Given the description of an element on the screen output the (x, y) to click on. 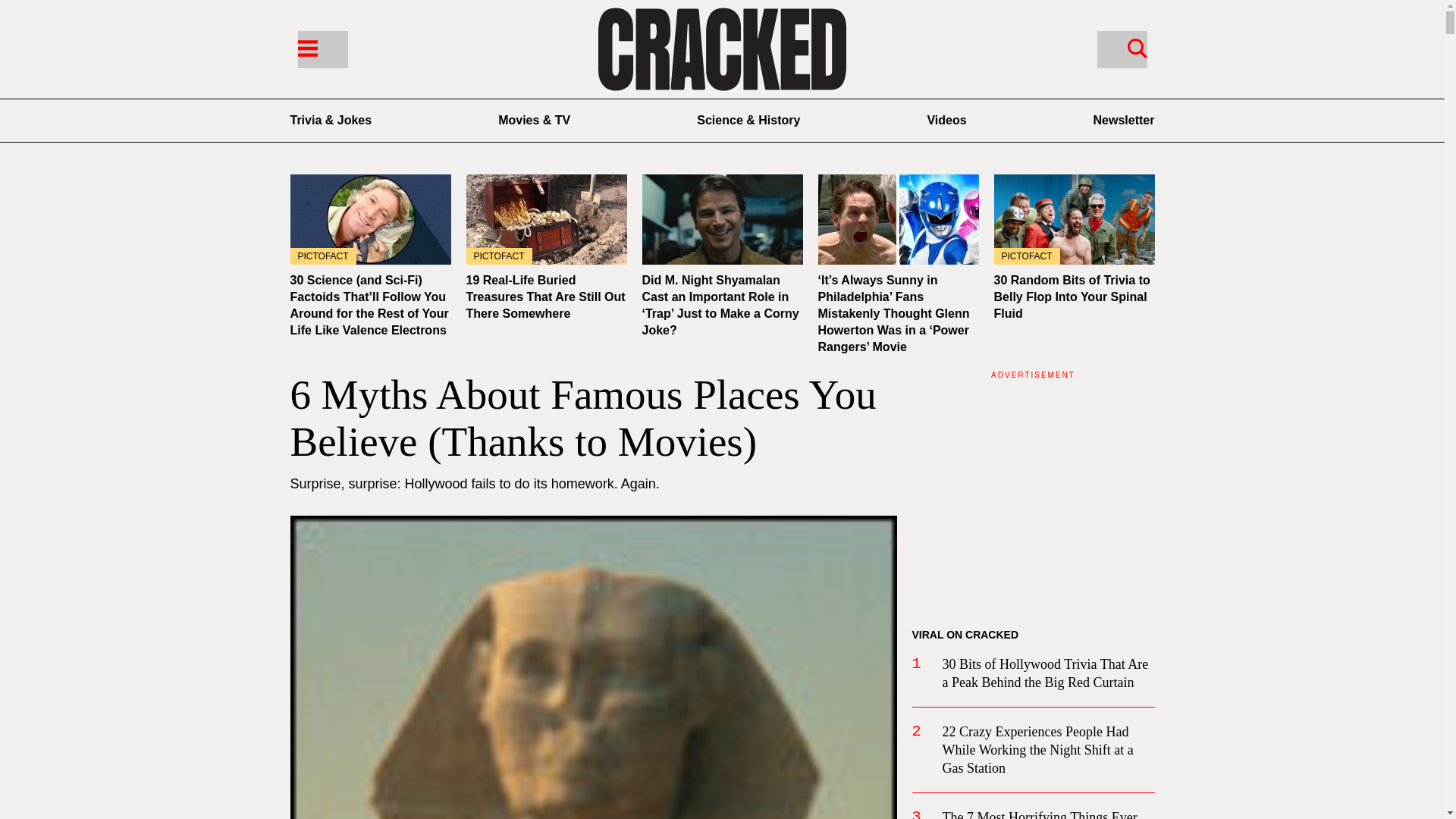
Menu (307, 47)
Videos (946, 119)
Cracked Newsletter (1123, 119)
PICTOFACT (369, 219)
PICTOFACT (545, 219)
Newsletter (1123, 119)
Search (1121, 48)
Videos (946, 119)
Search (1136, 47)
